Given the description of an element on the screen output the (x, y) to click on. 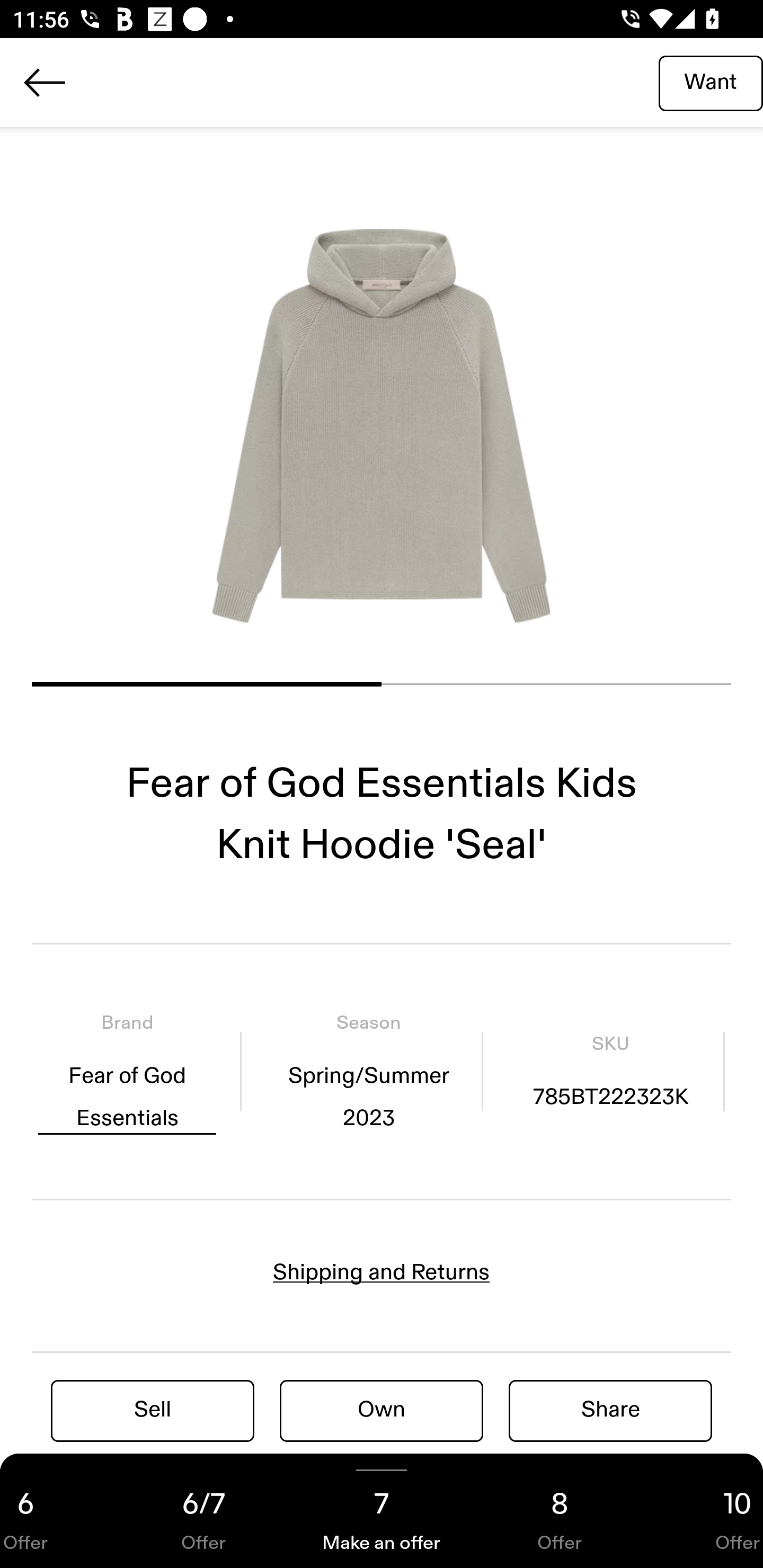
Want (710, 82)
Brand Fear of God Essentials (126, 1070)
Season Spring/Summer 2023 (368, 1070)
SKU 785BT222323K (609, 1070)
Shipping and Returns (381, 1272)
Sell (152, 1410)
Own (381, 1410)
Share (609, 1410)
6 Offer (57, 1510)
6/7 Offer (203, 1510)
7 Make an offer (381, 1510)
8 Offer (559, 1510)
10 Offer (705, 1510)
